Given the description of an element on the screen output the (x, y) to click on. 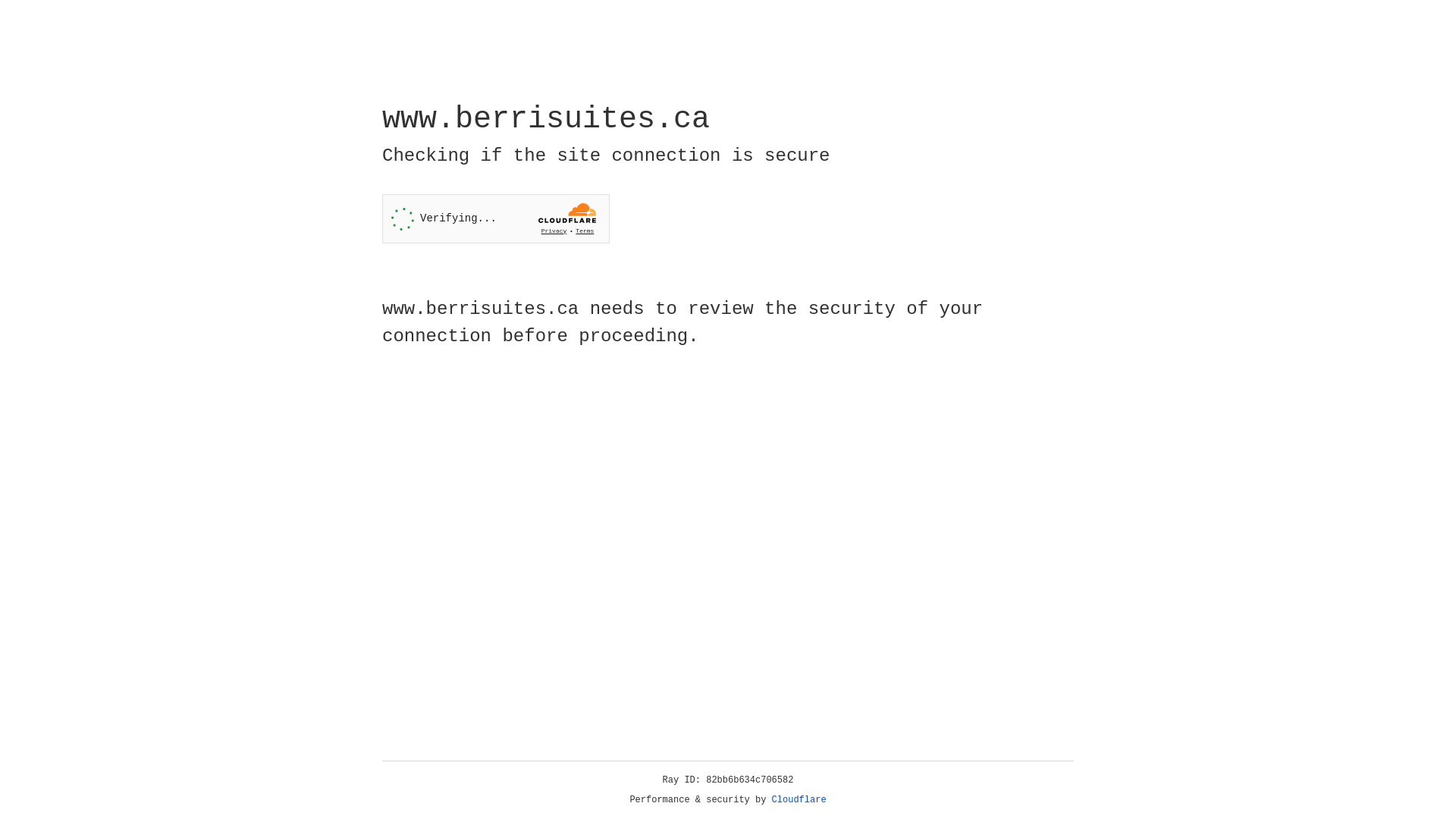
Cloudflare Element type: text (798, 799)
Widget containing a Cloudflare security challenge Element type: hover (495, 218)
